Given the description of an element on the screen output the (x, y) to click on. 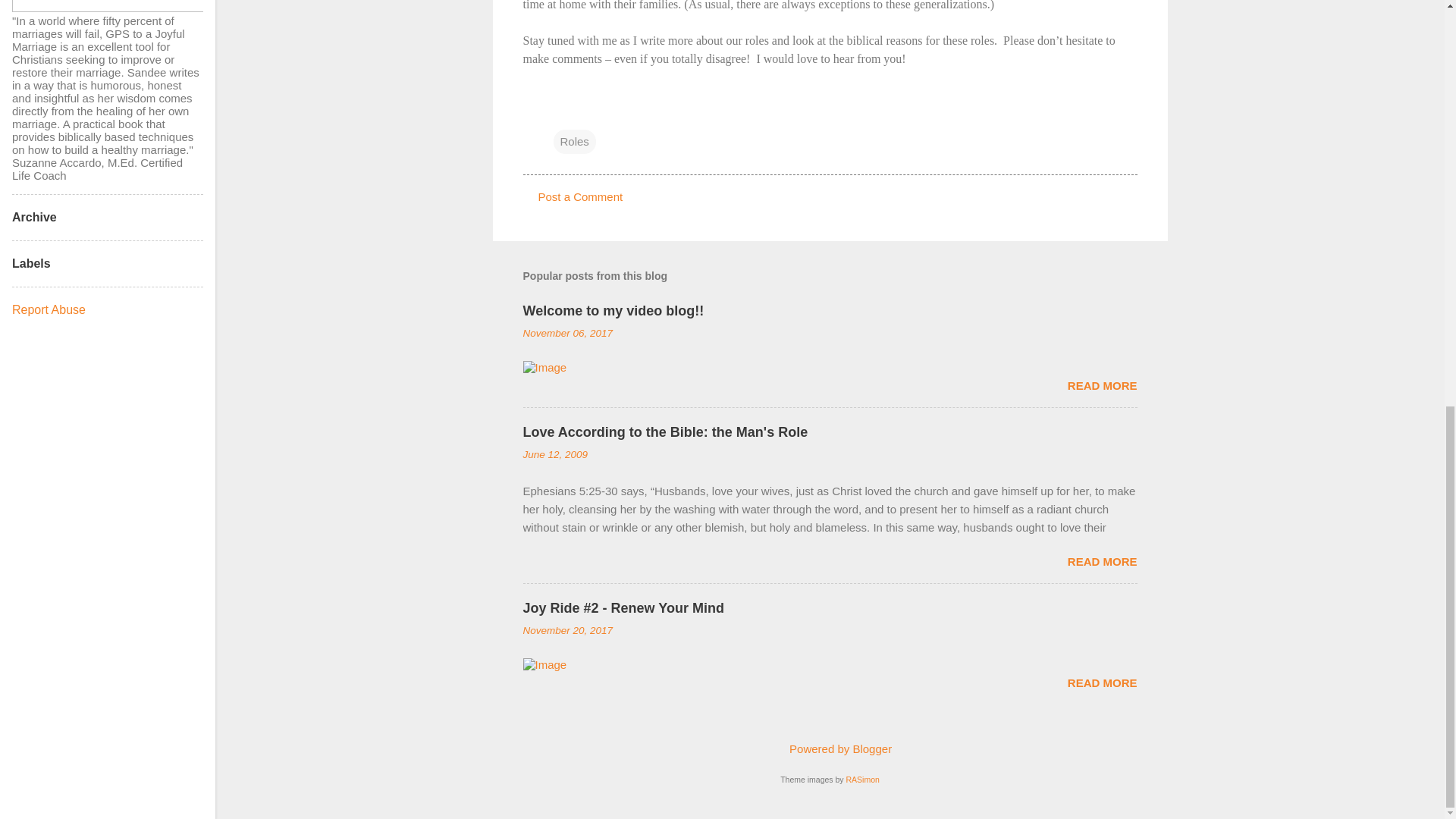
Welcome to my video blog!! (613, 310)
Post a Comment (580, 196)
November 20, 2017 (567, 630)
permanent link (567, 333)
RASimon (862, 778)
Love According to the Bible: the Man's Role (665, 432)
READ MORE (1102, 682)
June 12, 2009 (555, 454)
Roles (574, 141)
Email Post (562, 110)
